Given the description of an element on the screen output the (x, y) to click on. 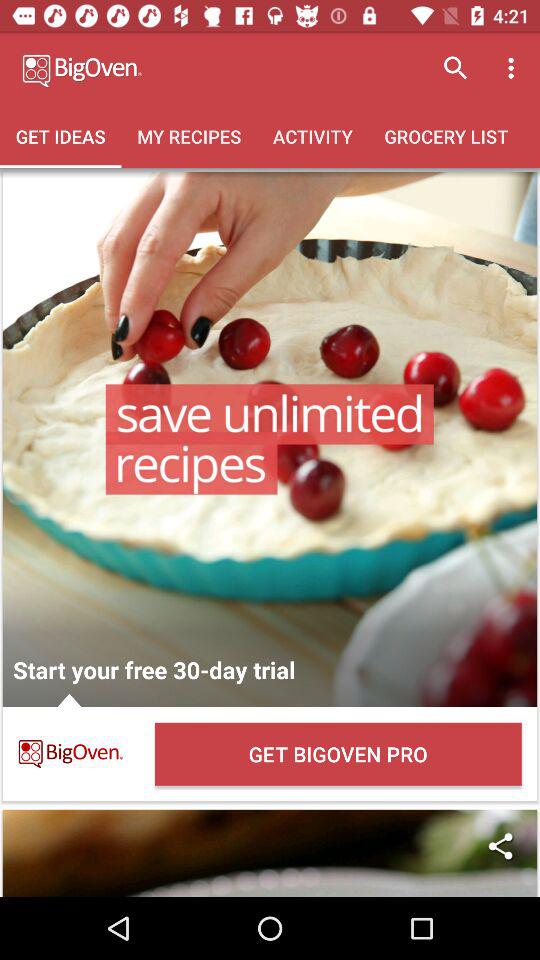
click to start free 30-day trial (269, 439)
